Given the description of an element on the screen output the (x, y) to click on. 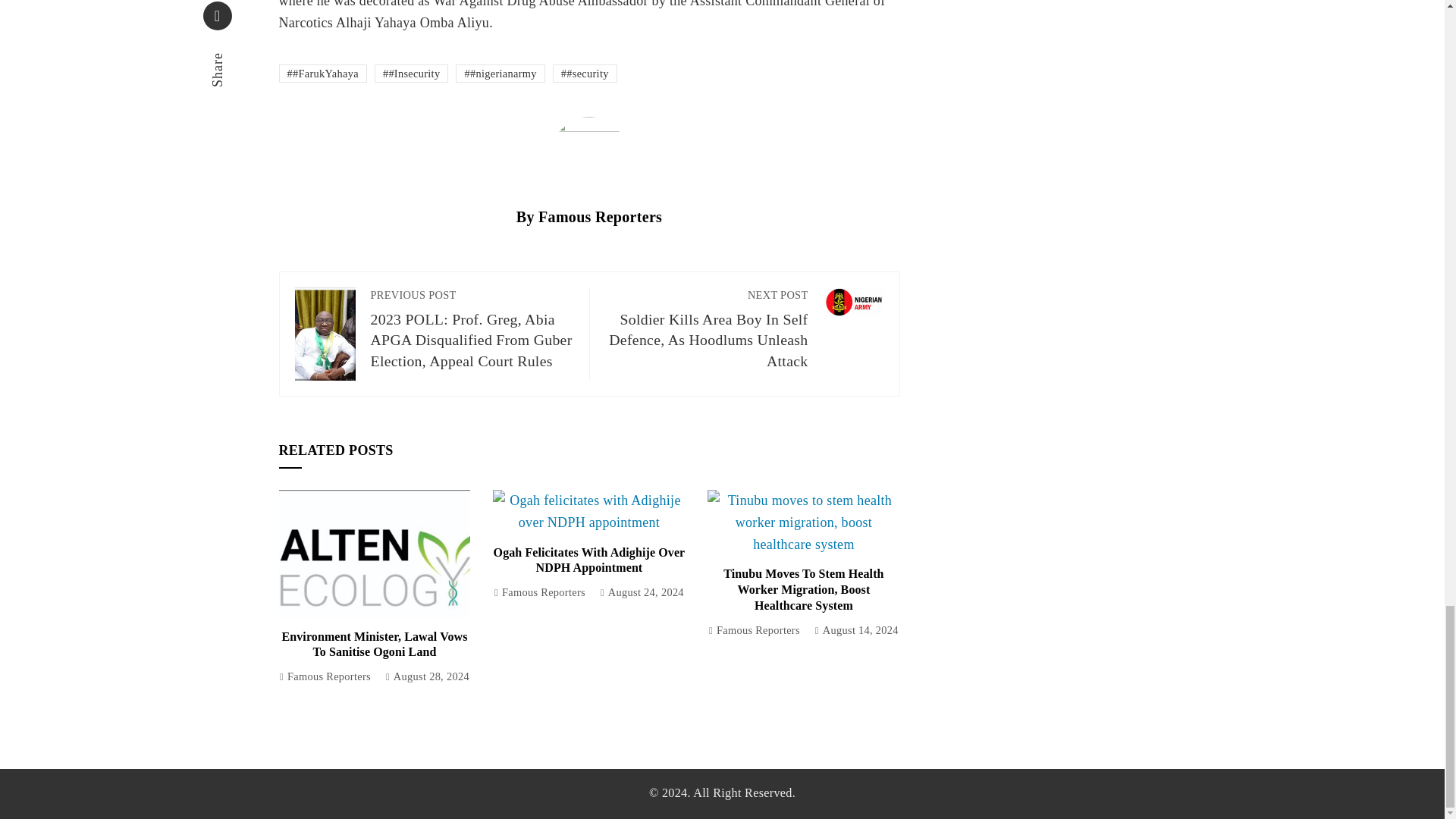
Ogah felicitates with Adighije over NDPH appointment (589, 559)
Environment Minister, Lawal vows to sanitise Ogoni land (374, 644)
